Given the description of an element on the screen output the (x, y) to click on. 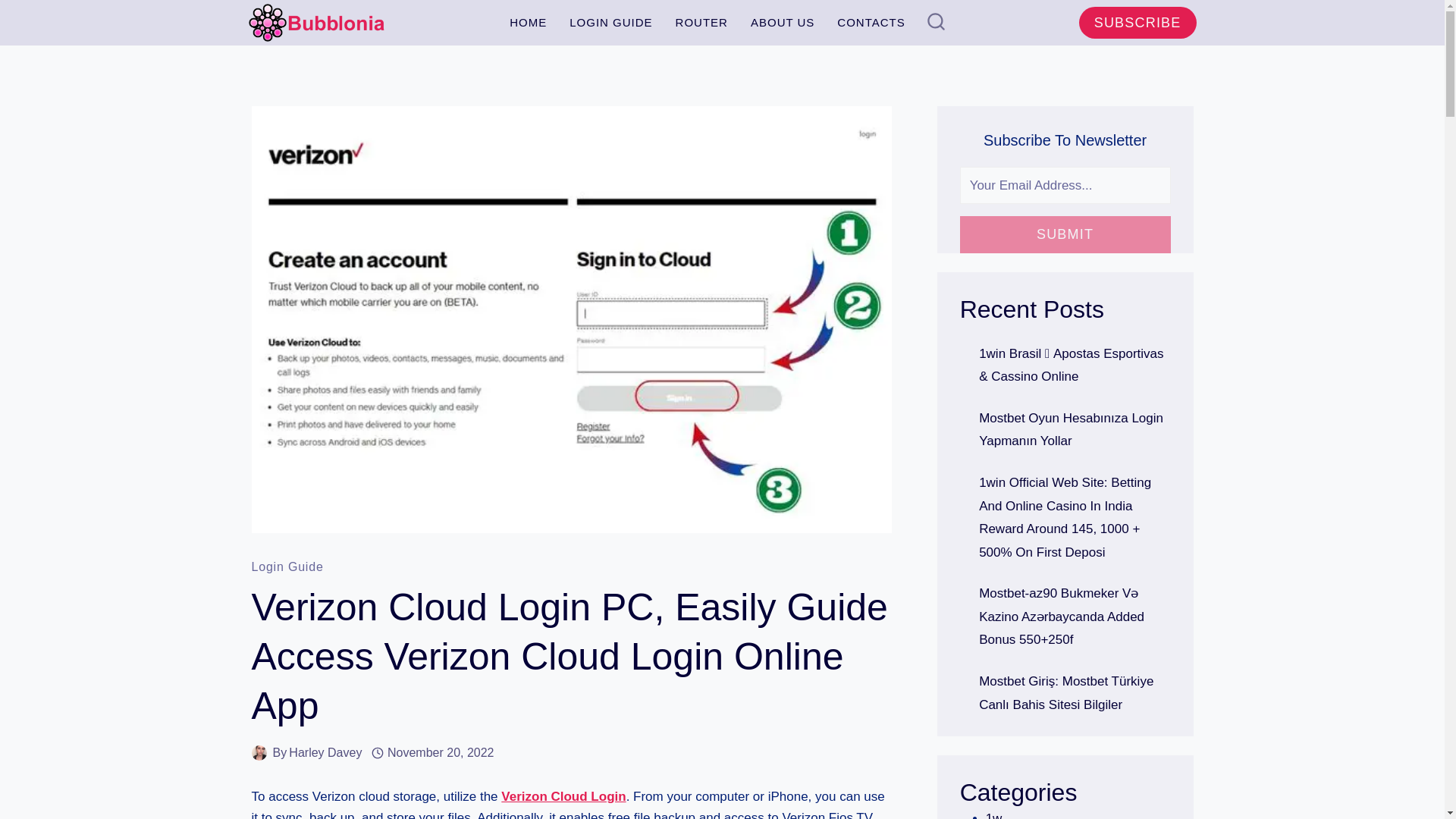
ROUTER (701, 22)
Harley Davey (324, 752)
Login Guide (287, 566)
LOGIN GUIDE (610, 22)
SUBSCRIBE (1137, 22)
HOME (527, 22)
Verizon Cloud Login (563, 796)
CONTACTS (870, 22)
ABOUT US (782, 22)
